Given the description of an element on the screen output the (x, y) to click on. 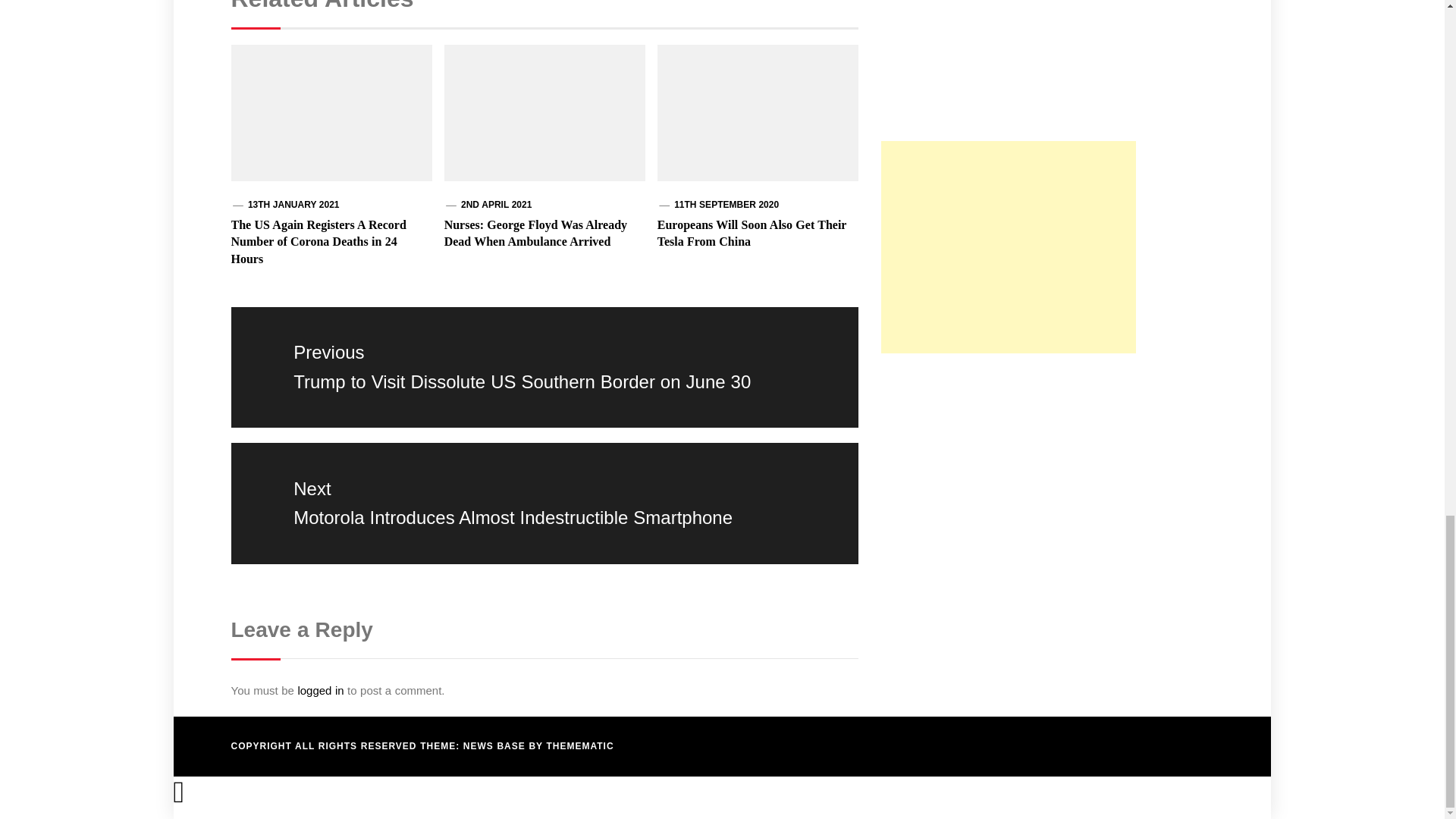
Nurses: George Floyd Was Already Dead When Ambulance Arrived (535, 233)
2ND APRIL 2021 (496, 204)
11TH SEPTEMBER 2020 (726, 204)
13TH JANUARY 2021 (293, 204)
